Given the description of an element on the screen output the (x, y) to click on. 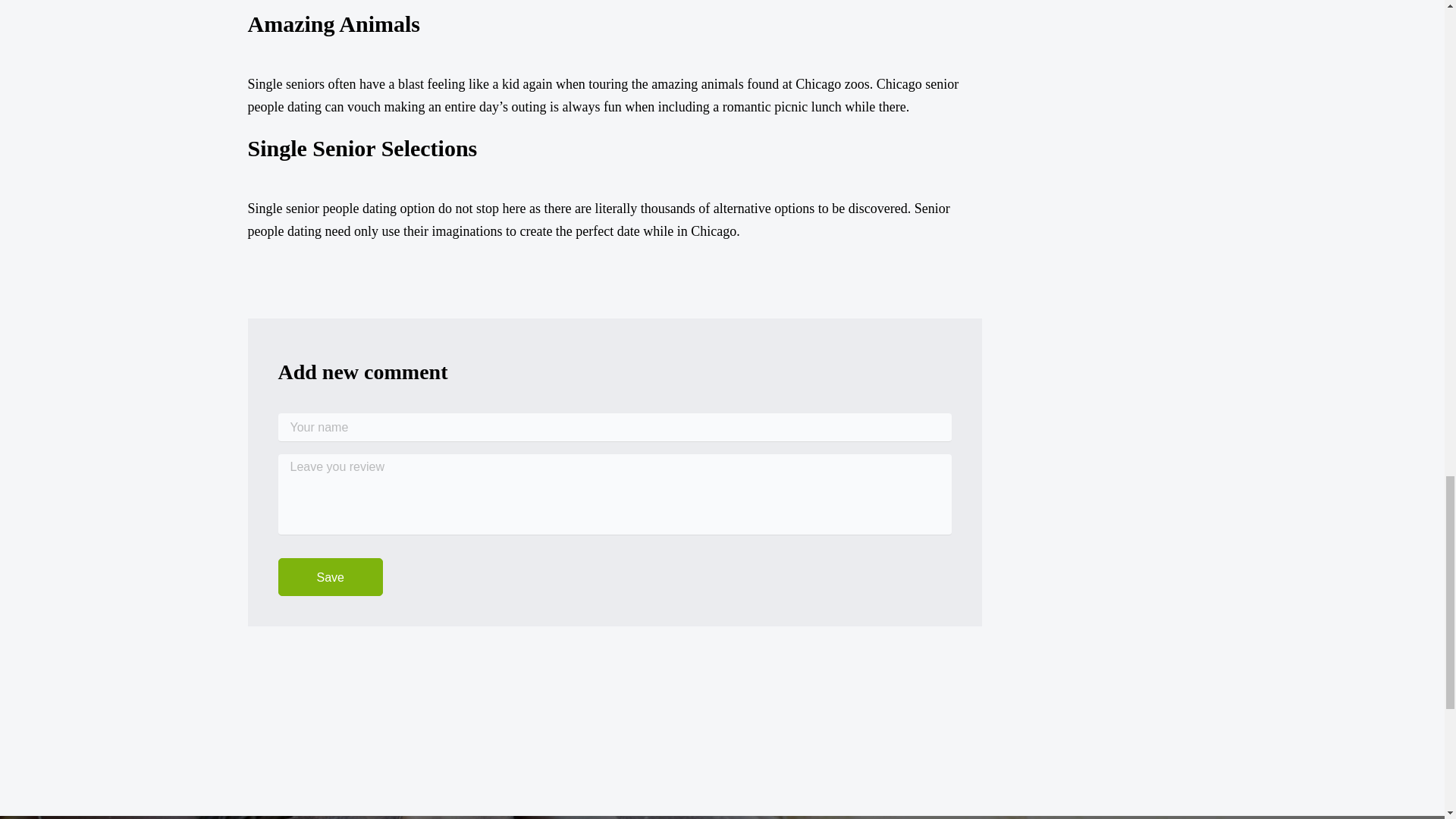
Save (329, 576)
Save (329, 576)
